Given the description of an element on the screen output the (x, y) to click on. 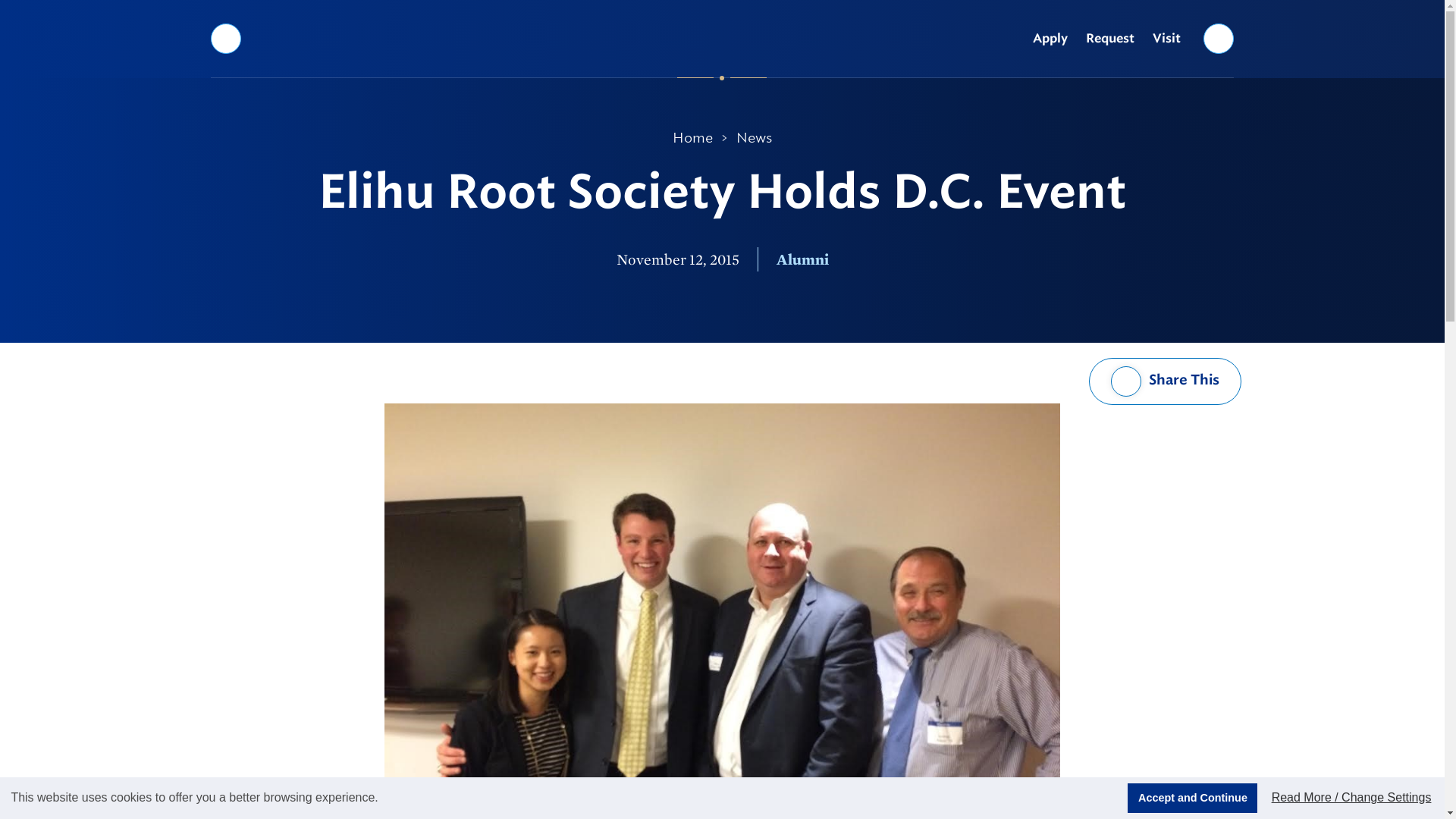
Request (1109, 38)
Search (1218, 38)
Alumni (802, 259)
Share This (1165, 380)
Home (692, 138)
Accept and Continue (1191, 797)
Visit (1165, 38)
Hamilton (721, 38)
News (753, 138)
Menu (225, 38)
Apply (1050, 38)
